Given the description of an element on the screen output the (x, y) to click on. 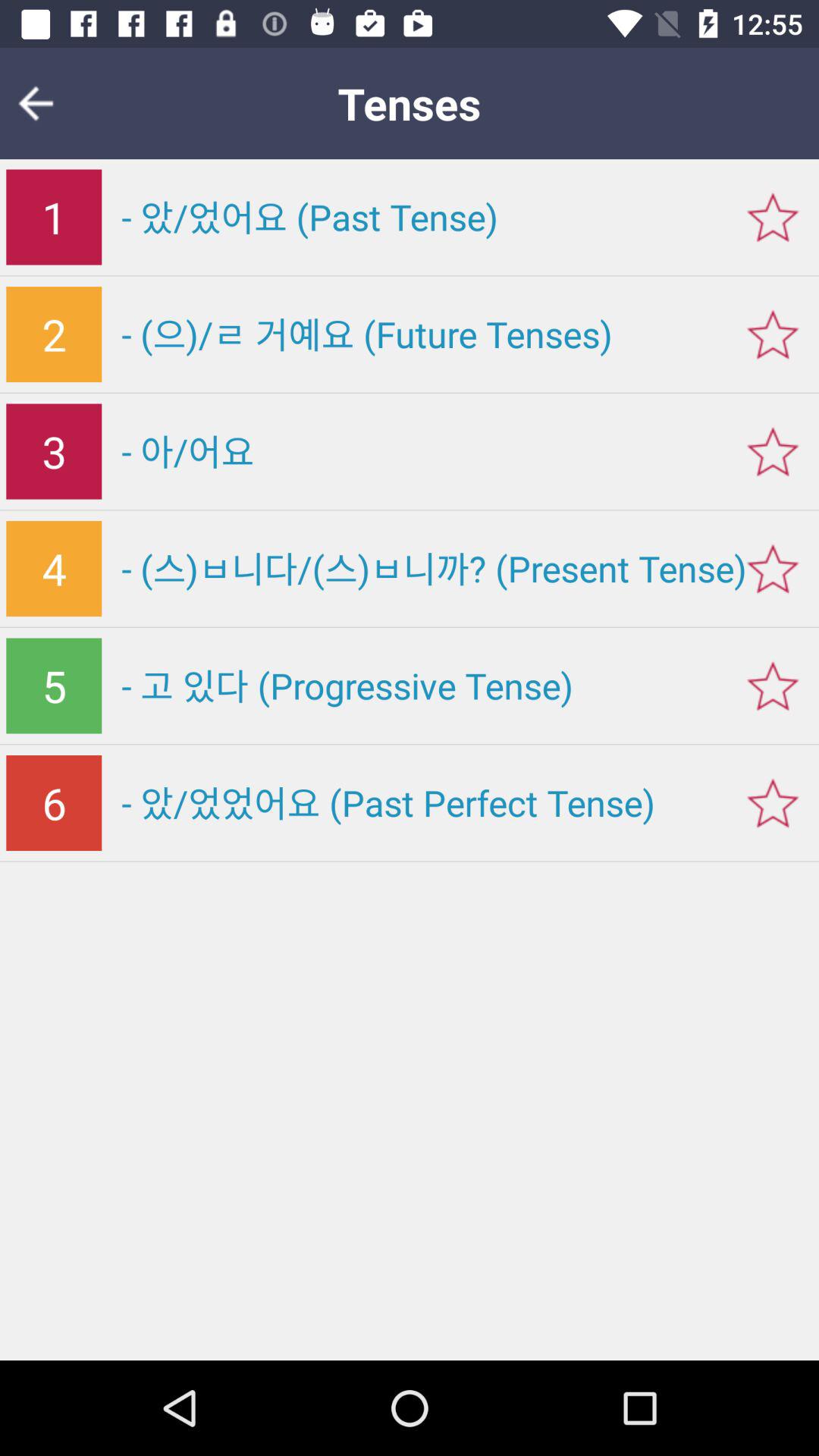
choose the 6 (53, 802)
